Given the description of an element on the screen output the (x, y) to click on. 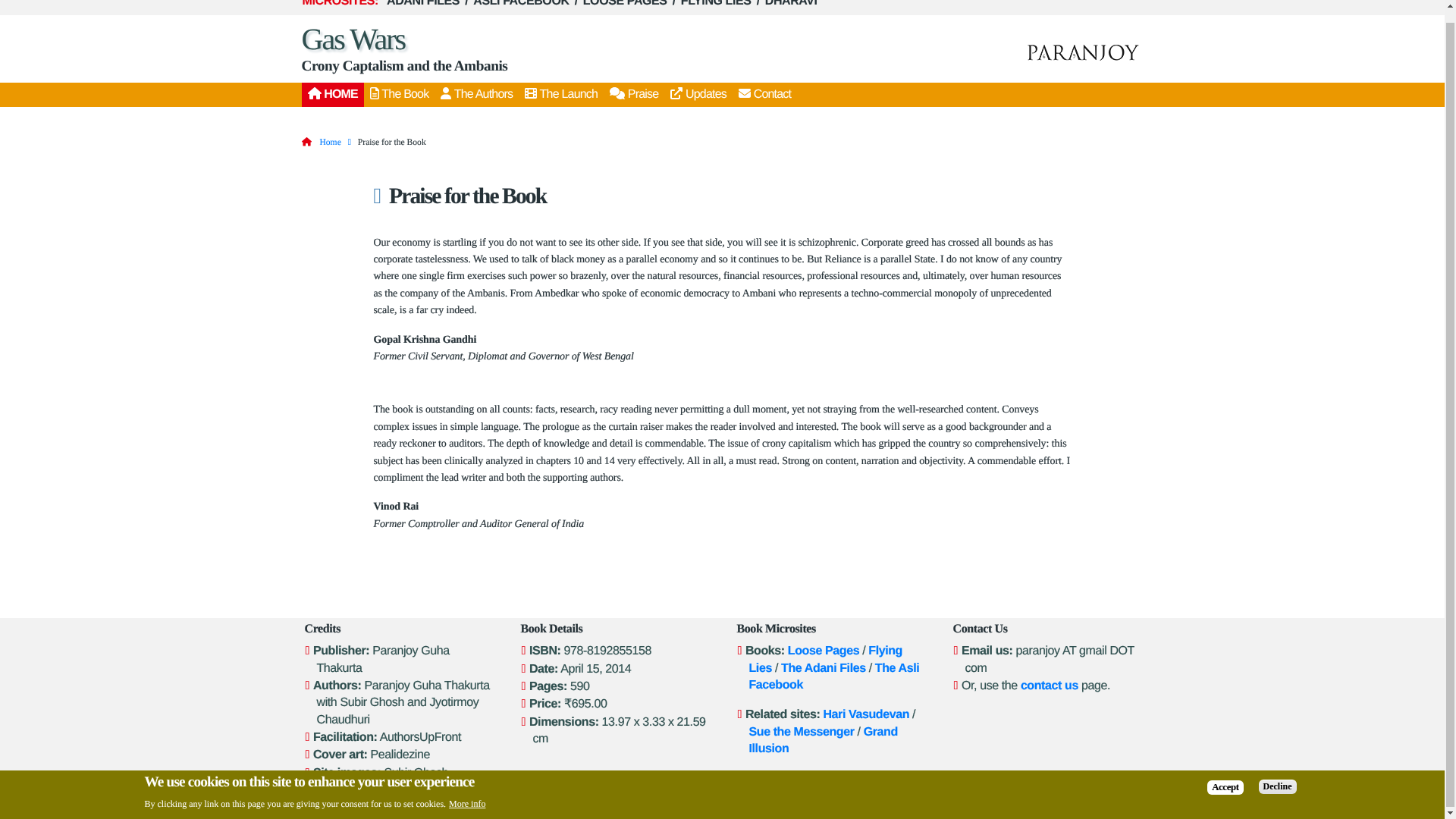
Flying Lies (825, 659)
The Book (398, 94)
Subir Ghosh (467, 810)
Praise (633, 94)
The Adani Files (823, 667)
DHARAVI (790, 4)
Loose Pages (823, 650)
The Asli Facebook (834, 676)
Praise (633, 94)
contact us (1049, 685)
The Authors (475, 94)
HOME (332, 94)
The Launch (561, 94)
ASLI FACEBOOK (520, 4)
Accept (1225, 775)
